Given the description of an element on the screen output the (x, y) to click on. 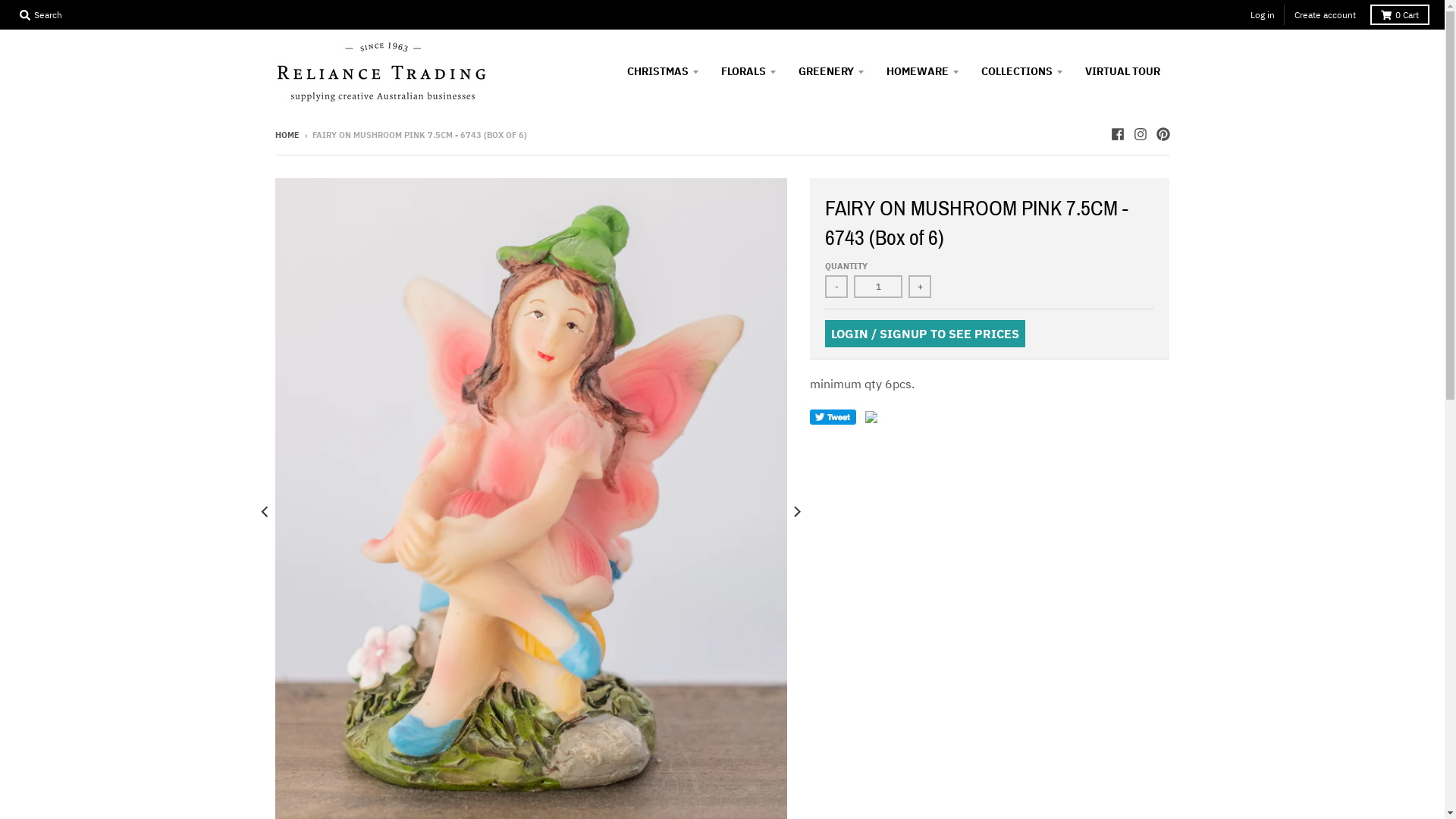
VIRTUAL TOUR Element type: text (1122, 70)
HOMEWARE Element type: text (922, 70)
Search Element type: text (40, 14)
Log in Element type: text (1262, 14)
HOME Element type: text (286, 134)
Tweet Element type: text (832, 416)
LOGIN / SIGNUP TO SEE PRICES Element type: text (925, 333)
Pinterest - Reliance Trading Corporation Element type: hover (1162, 134)
Facebook - Reliance Trading Corporation Element type: hover (1116, 134)
GREENERY Element type: text (831, 70)
+ Element type: text (919, 286)
0 Cart Element type: text (1399, 14)
COLLECTIONS Element type: text (1021, 70)
Instagram - Reliance Trading Corporation Element type: hover (1139, 134)
CHRISTMAS Element type: text (663, 70)
Create account Element type: text (1324, 14)
- Element type: text (836, 286)
FLORALS Element type: text (748, 70)
